Given the description of an element on the screen output the (x, y) to click on. 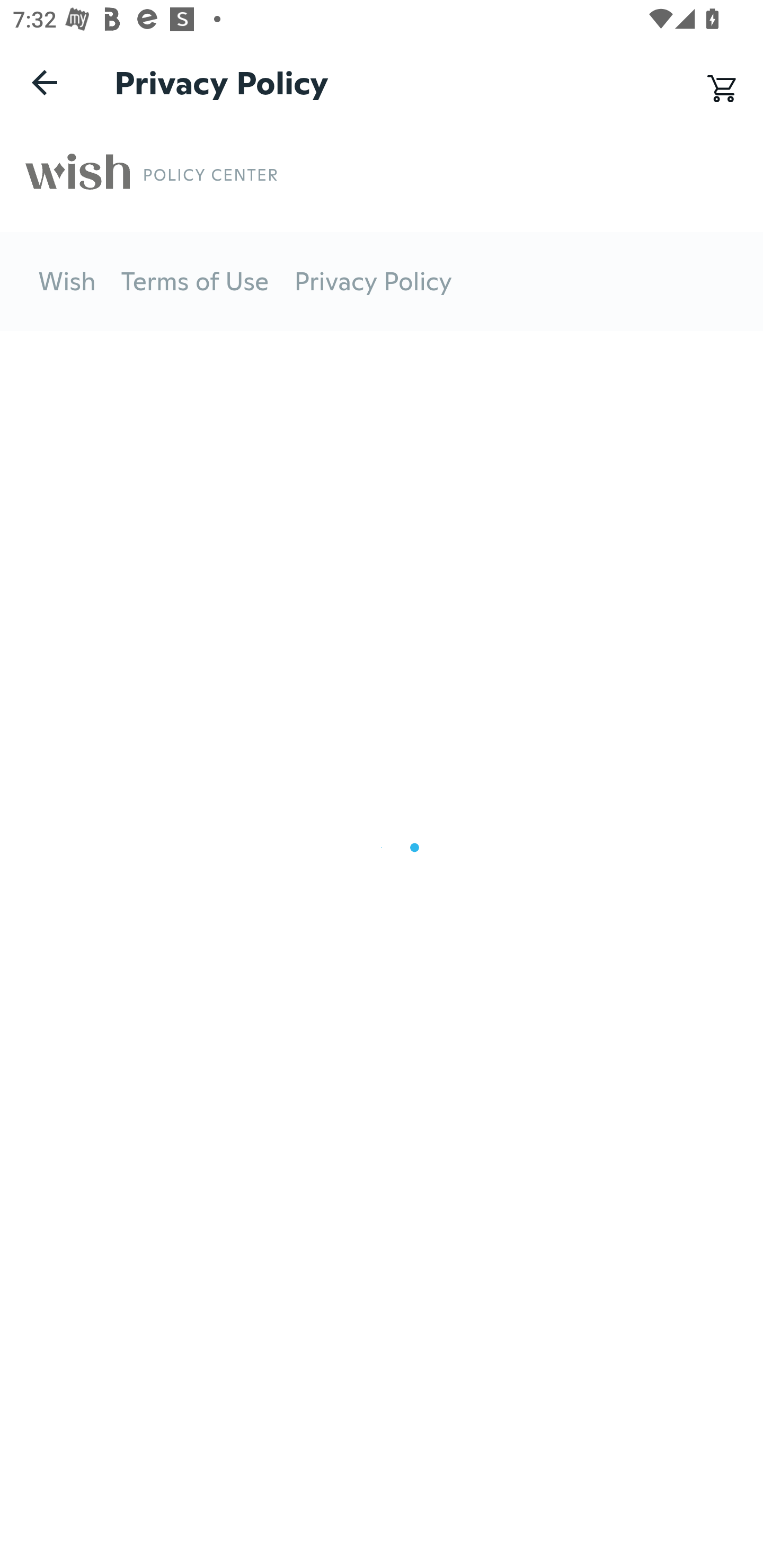
Navigate up (44, 82)
POLICY CENTER (210, 174)
Wish (67, 281)
Terms of Use (195, 281)
Privacy Policy (373, 281)
